Given the description of an element on the screen output the (x, y) to click on. 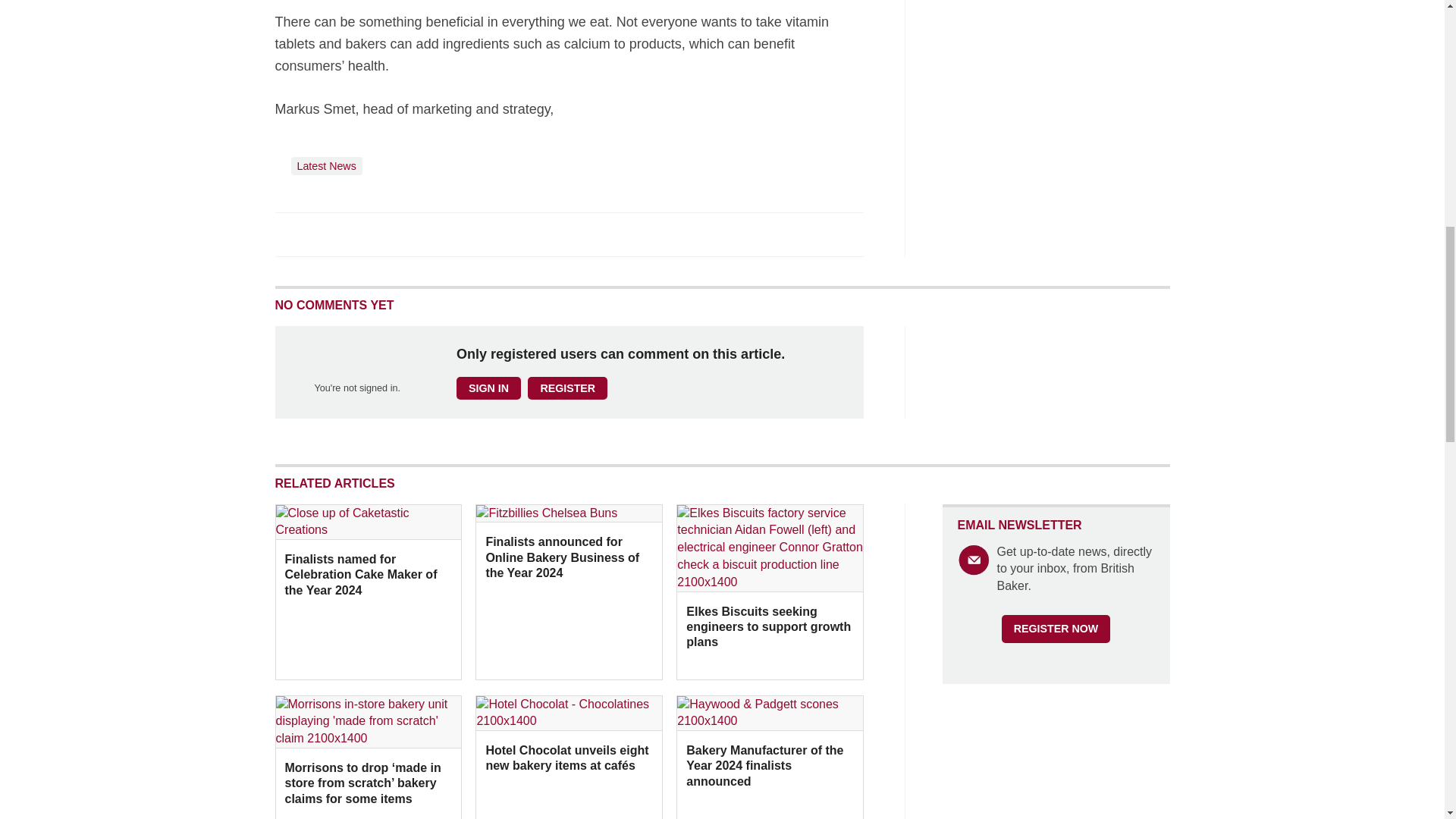
Share this on Facebook (288, 234)
Share this on Linked in (352, 234)
Share this on Twitter (320, 234)
Email this article (386, 234)
No comments (840, 242)
